Given the description of an element on the screen output the (x, y) to click on. 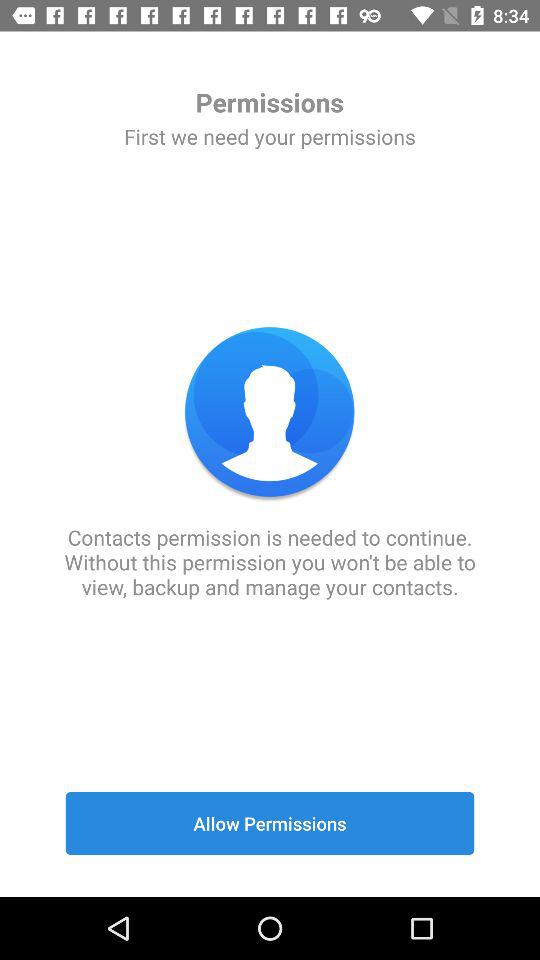
choose the icon below the contacts permission is item (269, 823)
